Given the description of an element on the screen output the (x, y) to click on. 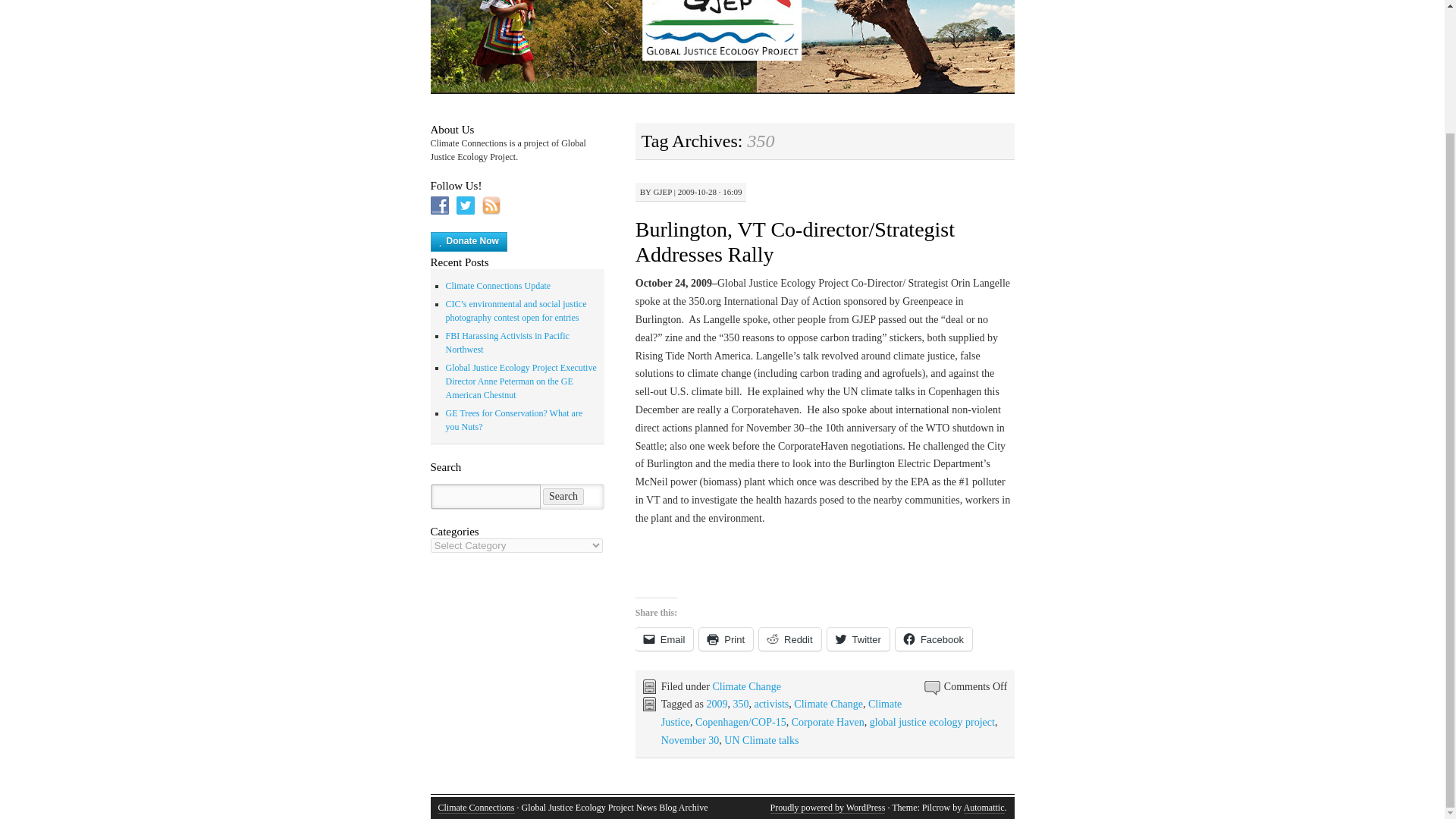
Click to share on Facebook (933, 639)
Climate Connections (476, 808)
Donate Now (468, 241)
Reddit (789, 639)
GJEP (661, 191)
Click to share on Reddit (789, 639)
Climate Justice (781, 713)
Twitter (858, 639)
Climate Connections (476, 808)
Skip to content (440, 1)
